Given the description of an element on the screen output the (x, y) to click on. 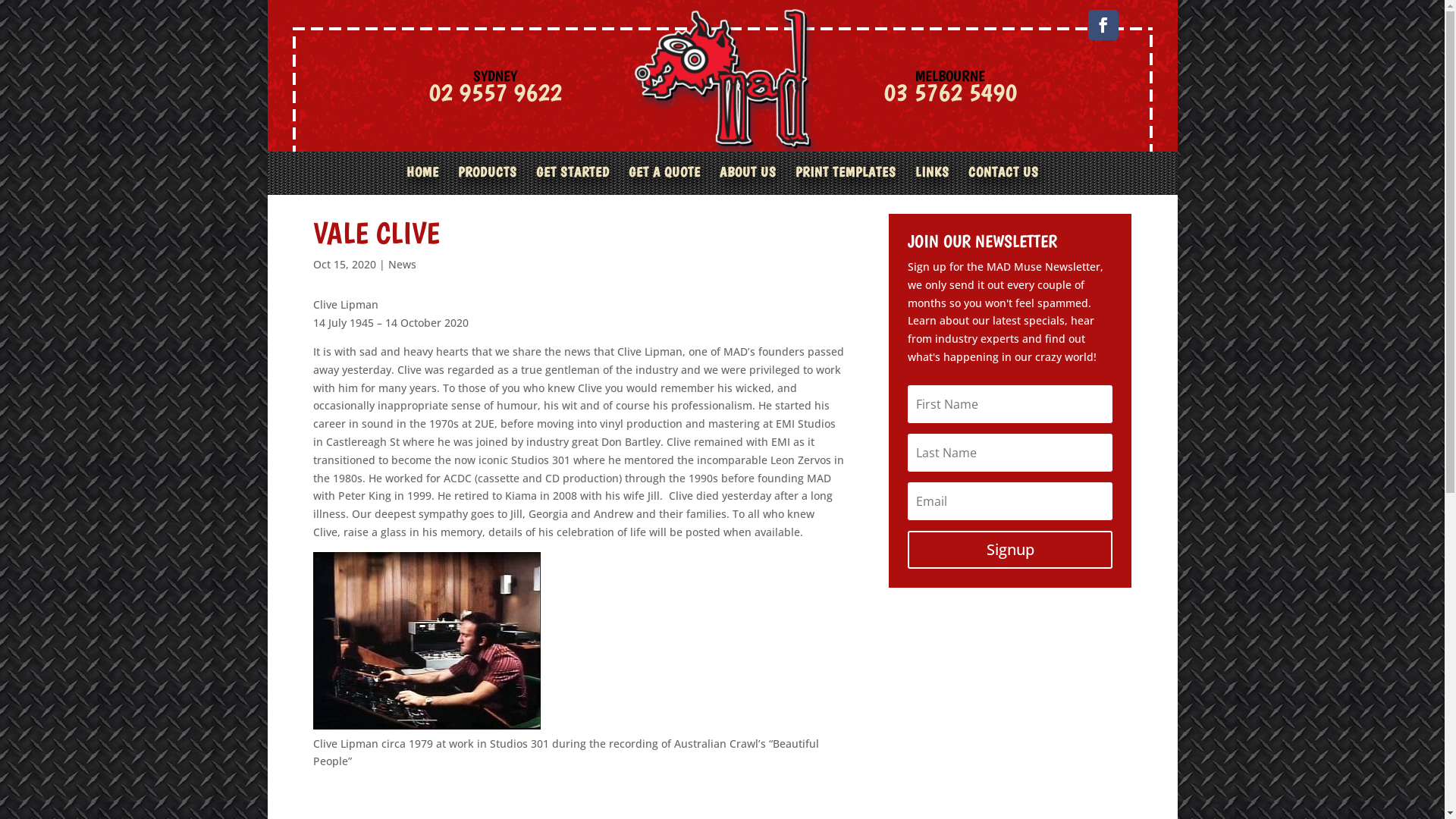
News Element type: text (402, 264)
HOME Element type: text (422, 180)
PRINT TEMPLATES Element type: text (844, 180)
PRODUCTS Element type: text (487, 180)
LINKS Element type: text (931, 180)
ABOUT US Element type: text (746, 180)
Signup Element type: text (1009, 549)
CONTACT US Element type: text (1002, 180)
GET STARTED Element type: text (571, 180)
GET A QUOTE Element type: text (663, 180)
